Given the description of an element on the screen output the (x, y) to click on. 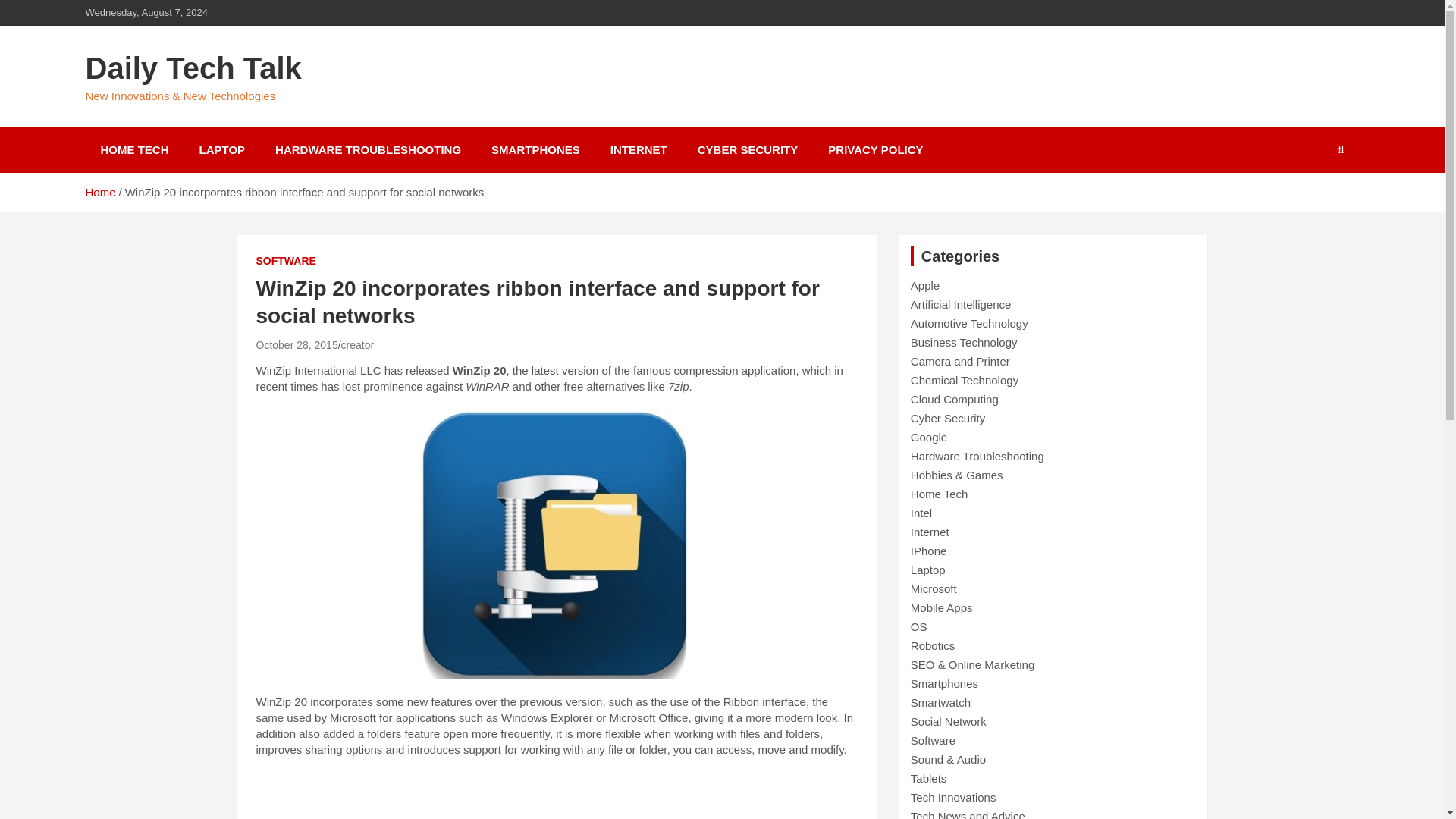
Mobile Apps (941, 607)
Artificial Intelligence (961, 304)
HARDWARE TROUBLESHOOTING (368, 149)
Microsoft (933, 588)
OS (919, 626)
October 28, 2015 (296, 345)
Hardware Troubleshooting (977, 455)
Advertisement (556, 796)
INTERNET (638, 149)
CYBER SECURITY (747, 149)
